Given the description of an element on the screen output the (x, y) to click on. 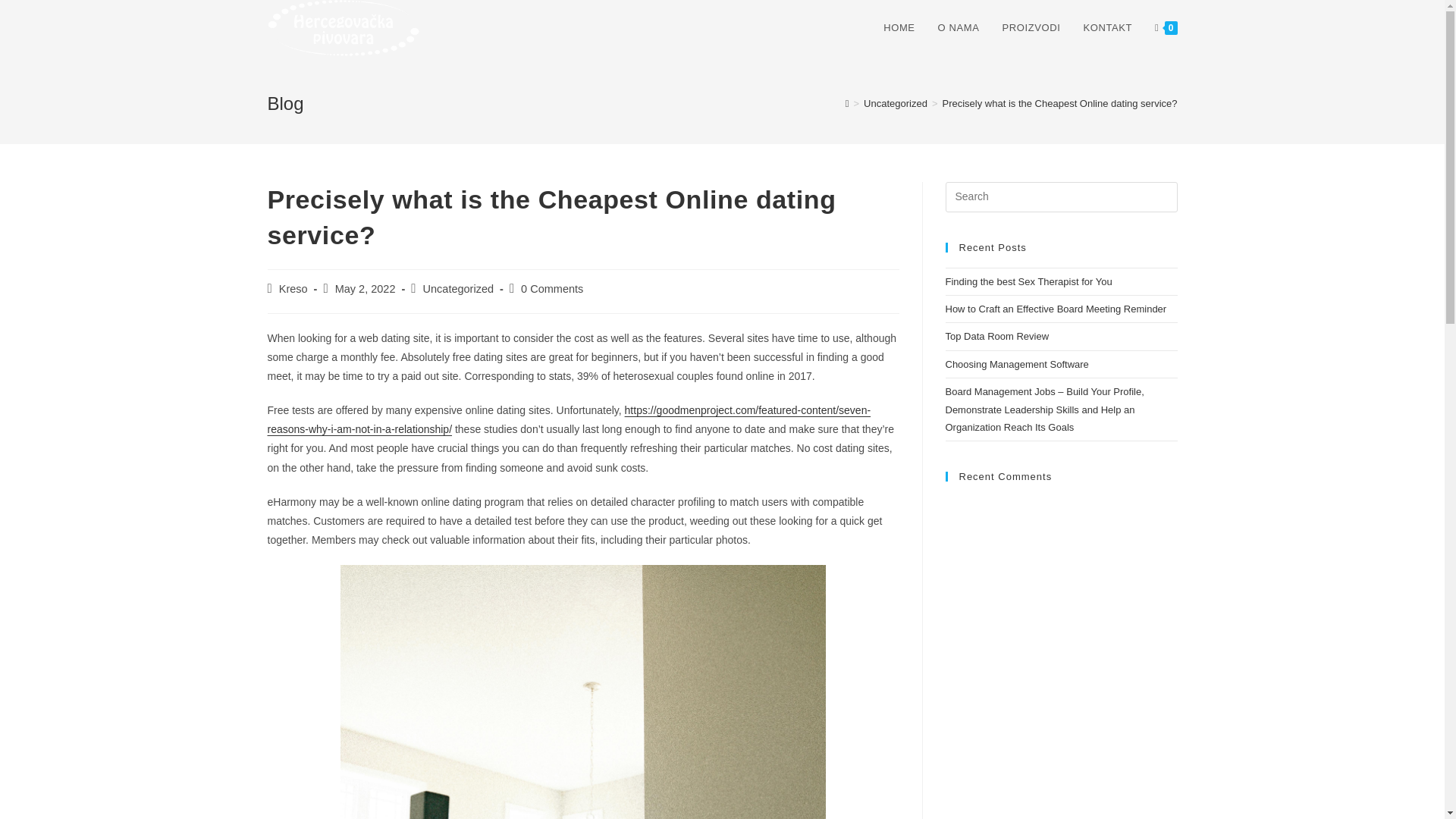
Precisely what is the Cheapest Online dating service? (1059, 102)
Posts by Kreso (293, 288)
Choosing Management Software (1015, 364)
How to Craft an Effective Board Meeting Reminder (1055, 308)
Uncategorized (459, 288)
HOME (899, 28)
PROIZVODI (1030, 28)
Top Data Room Review (996, 336)
Finding the best Sex Therapist for You (1028, 281)
O NAMA (958, 28)
